Given the description of an element on the screen output the (x, y) to click on. 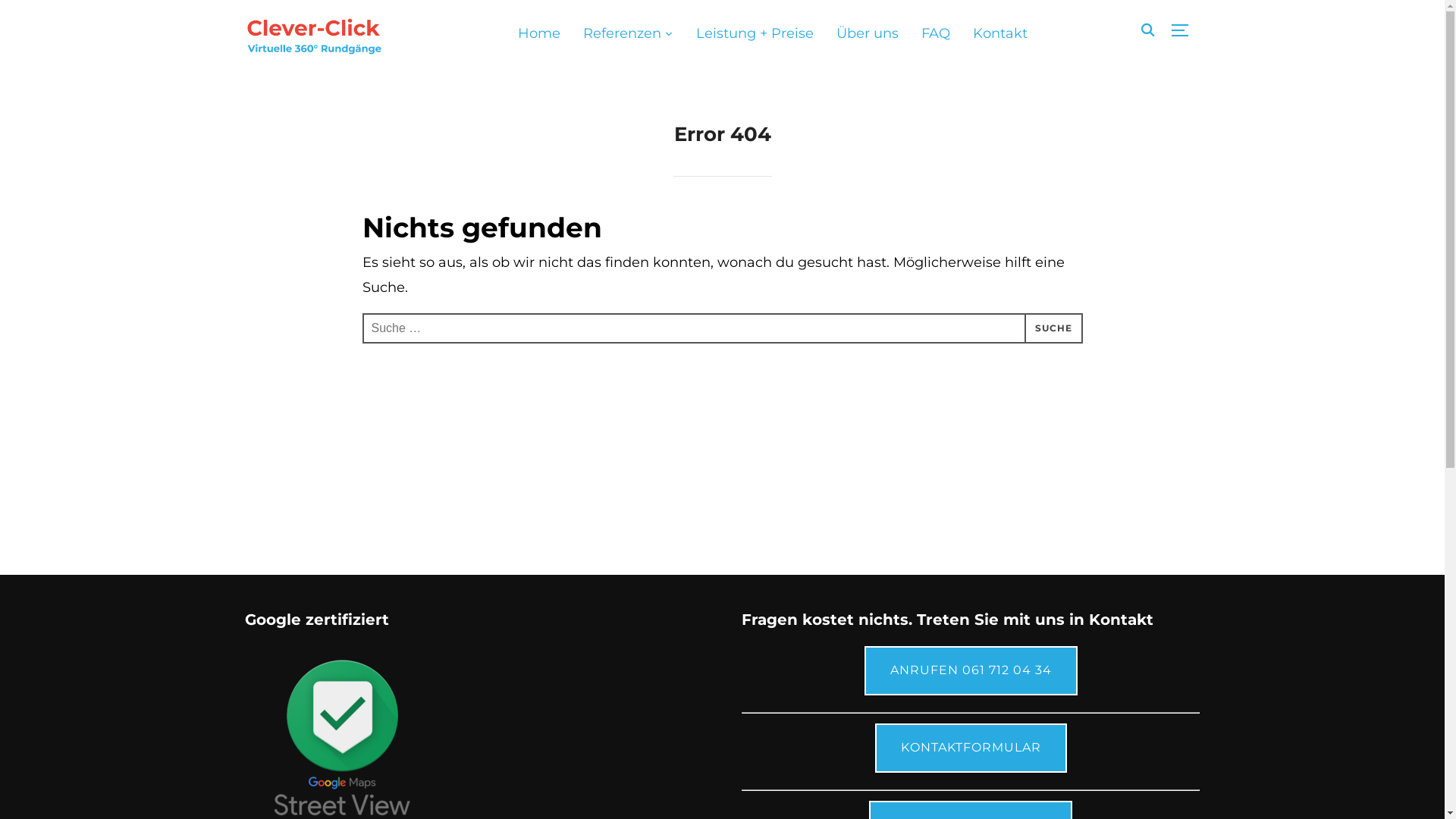
Suche Element type: text (1052, 328)
Leistung + Preise Element type: text (754, 32)
Referenzen Element type: text (627, 32)
SEITENLEISTE & NAVIGATION UMSCHALTEN Element type: text (1184, 30)
Kontakt Element type: text (999, 32)
Home Element type: text (538, 32)
Search Element type: text (15, 15)
KONTAKTFORMULAR Element type: text (970, 747)
ANRUFEN 061 712 04 34 Element type: text (970, 670)
FAQ Element type: text (934, 32)
